Given the description of an element on the screen output the (x, y) to click on. 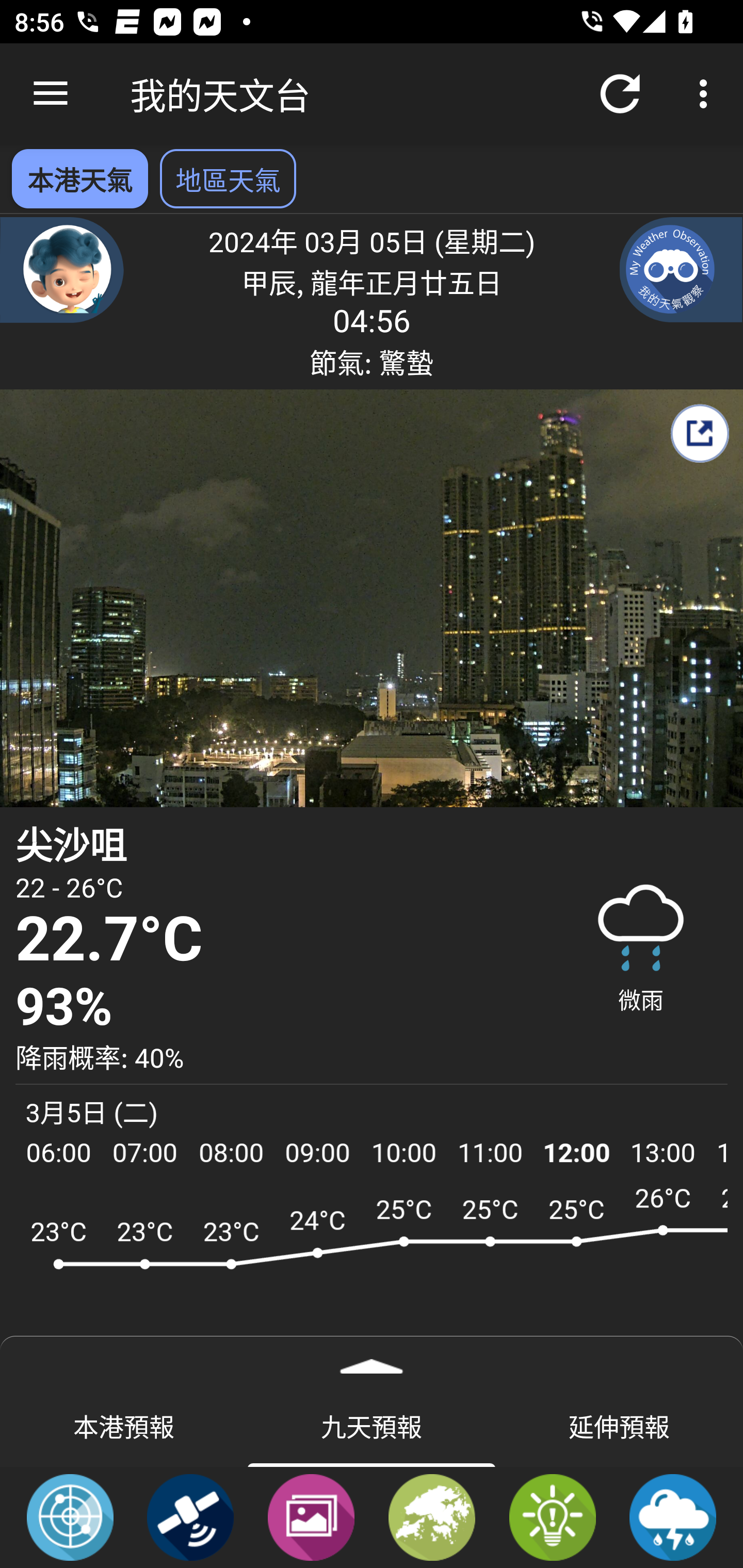
向上瀏覽 (50, 93)
重新整理 (619, 93)
更多選項 (706, 93)
本港天氣 已選擇 本港天氣 (79, 178)
地區天氣 選擇 地區天氣 (227, 178)
聊天機械人 (62, 269)
我的天氣觀察 (680, 269)
分享我的天氣報告 (699, 433)
22.7°C 氣溫22.7攝氏度 (276, 939)
93% 相對濕度百分之93 (276, 1007)
九天自動天氣預報 圖片
輕按進入內頁，即可了解詳細資料。 ARWF (371, 1275)
展開 (371, 1358)
本港預報 (123, 1424)
延伸預報 (619, 1424)
雷達圖像 (69, 1516)
衛星圖像 (190, 1516)
天氣照片 (310, 1516)
分區天氣 (431, 1516)
天氣提示 (551, 1516)
定點降雨及閃電預報 (672, 1516)
